Given the description of an element on the screen output the (x, y) to click on. 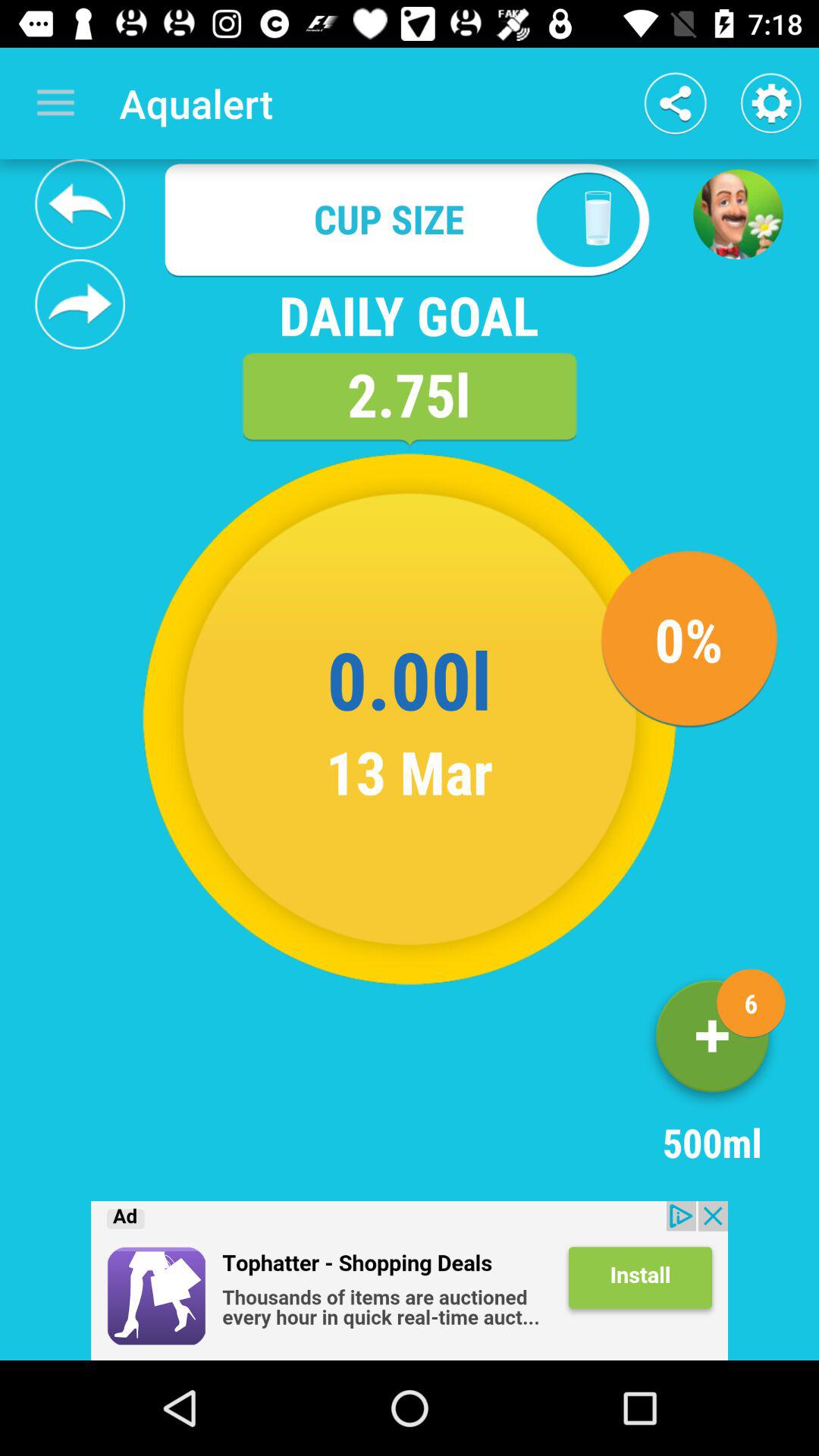
go back go to previous setting (409, 1280)
